Given the description of an element on the screen output the (x, y) to click on. 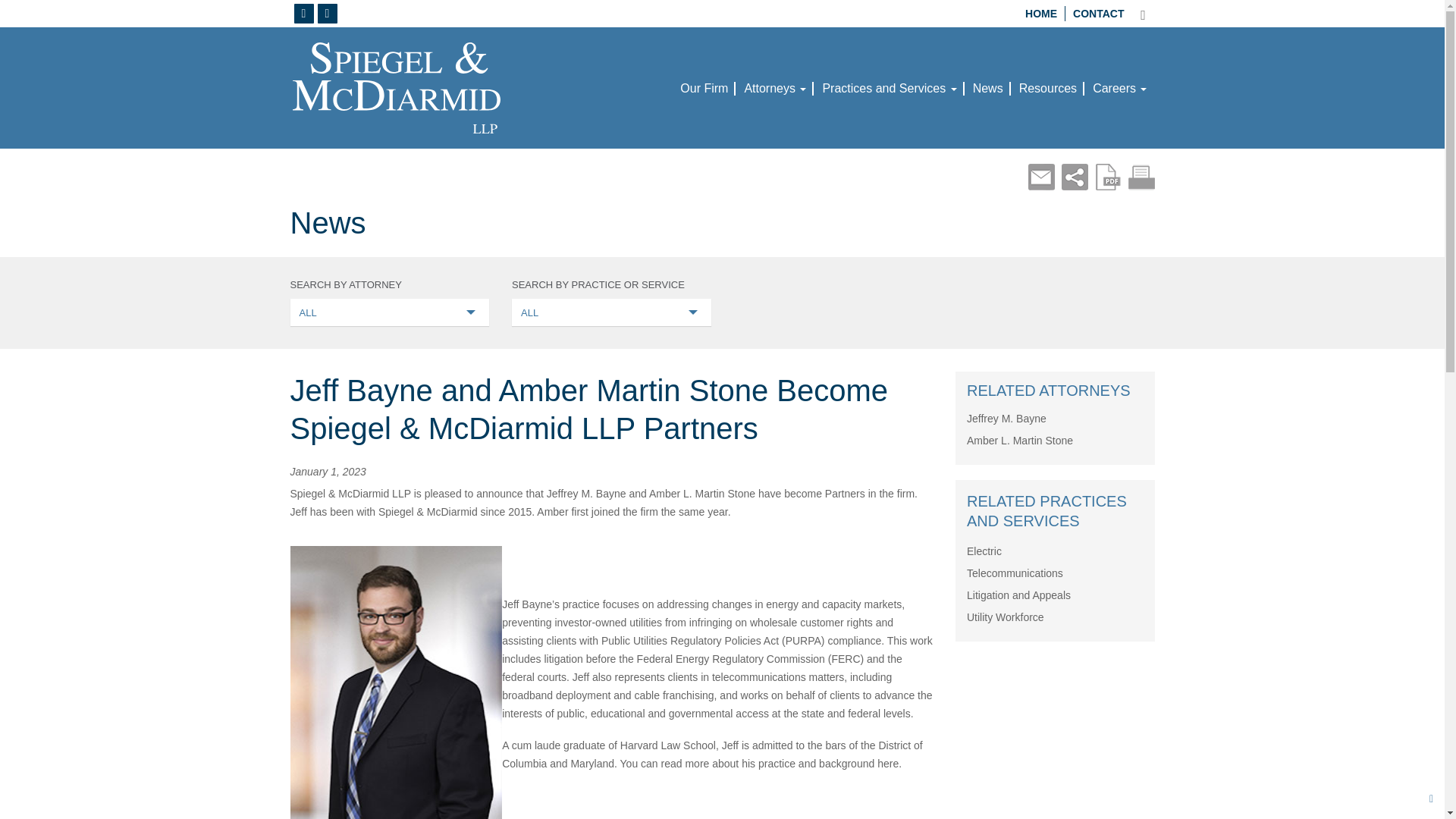
Home (1040, 13)
CONTACT (1094, 13)
Practices and Services (888, 91)
Attorneys (774, 91)
HOME (1040, 13)
Contact (1094, 13)
Attorneys (774, 91)
News (987, 91)
Resources (1047, 91)
Our Firm (703, 91)
Our Firm (703, 91)
Practices and Services (888, 91)
